Given the description of an element on the screen output the (x, y) to click on. 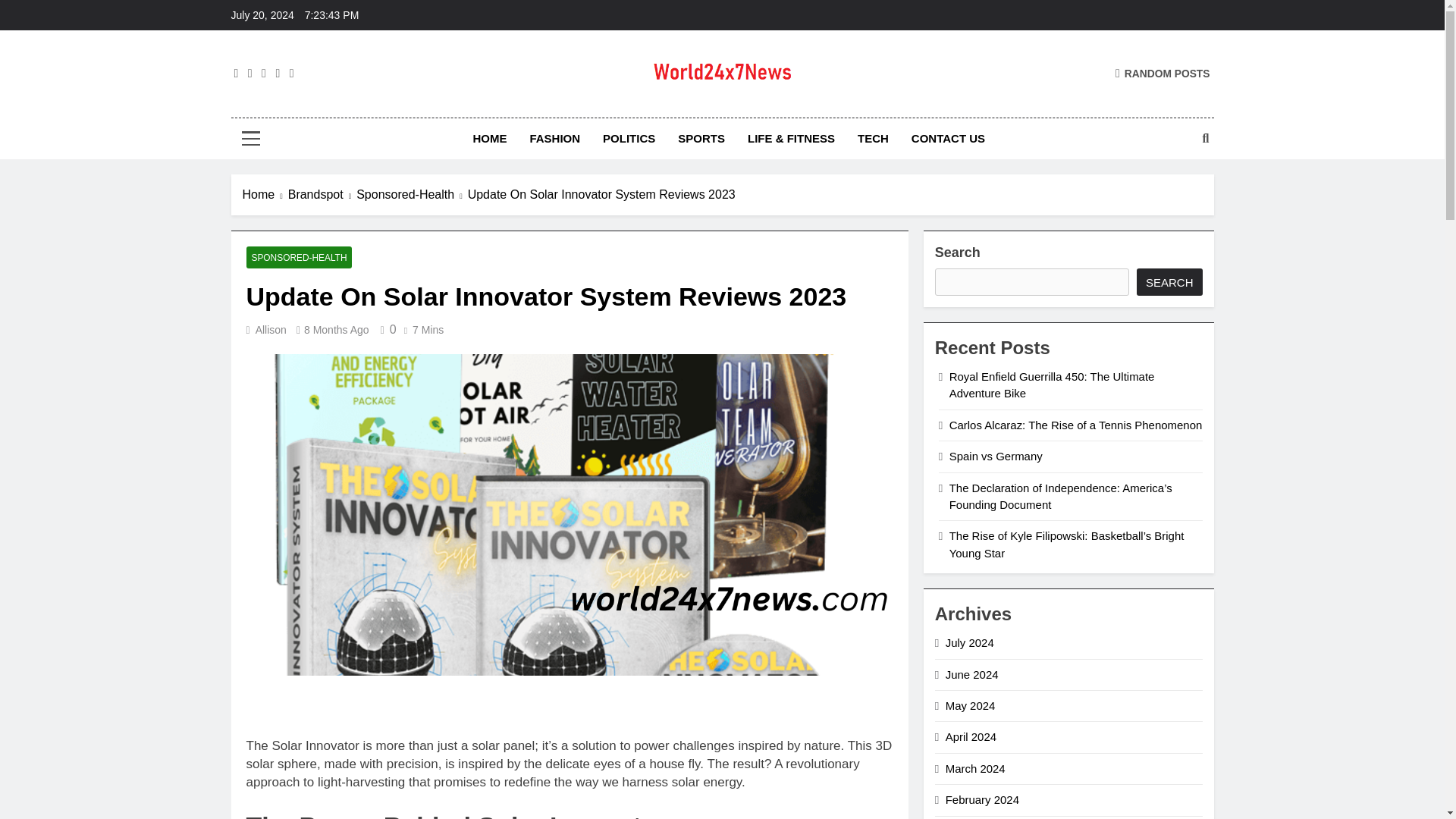
POLITICS (628, 137)
SPORTS (701, 137)
RANDOM POSTS (1162, 72)
FASHION (554, 137)
HOME (489, 137)
